Given the description of an element on the screen output the (x, y) to click on. 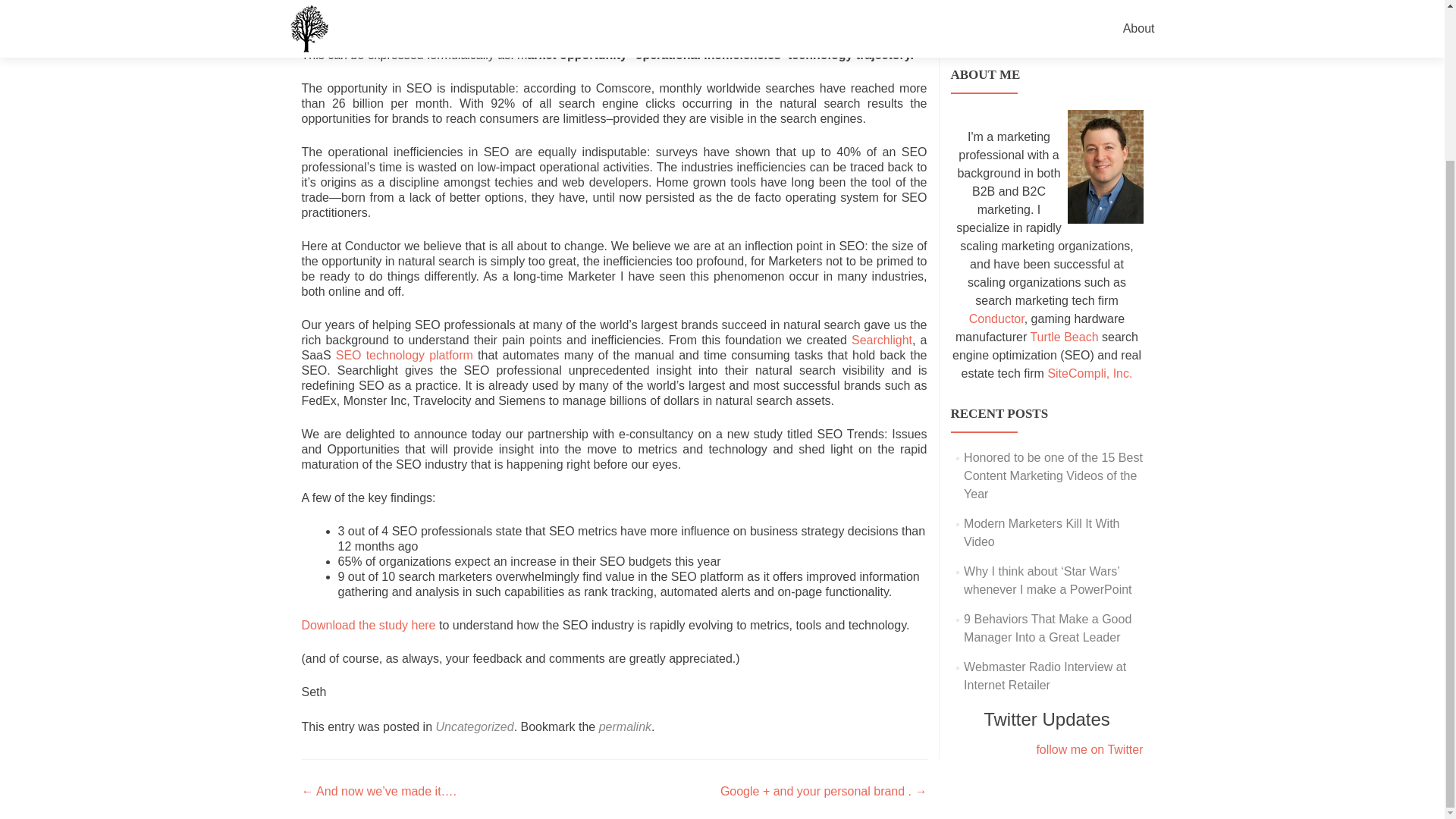
Webmaster Radio Interview at Internet Retailer (1044, 675)
SEO technology platform (406, 354)
Turtle Beach (1063, 336)
9 Behaviors That Make a Good Manager Into a Great Leader (1047, 627)
Download the study here (368, 625)
SiteCompli, Inc. (1089, 373)
Subscribe (1015, 18)
Subscribe (1015, 18)
Conductor (997, 318)
permalink (624, 726)
Uncategorized (474, 726)
follow me on Twitter (1046, 750)
Searchlight (881, 339)
Modern Marketers Kill It With Video (1041, 531)
